Given the description of an element on the screen output the (x, y) to click on. 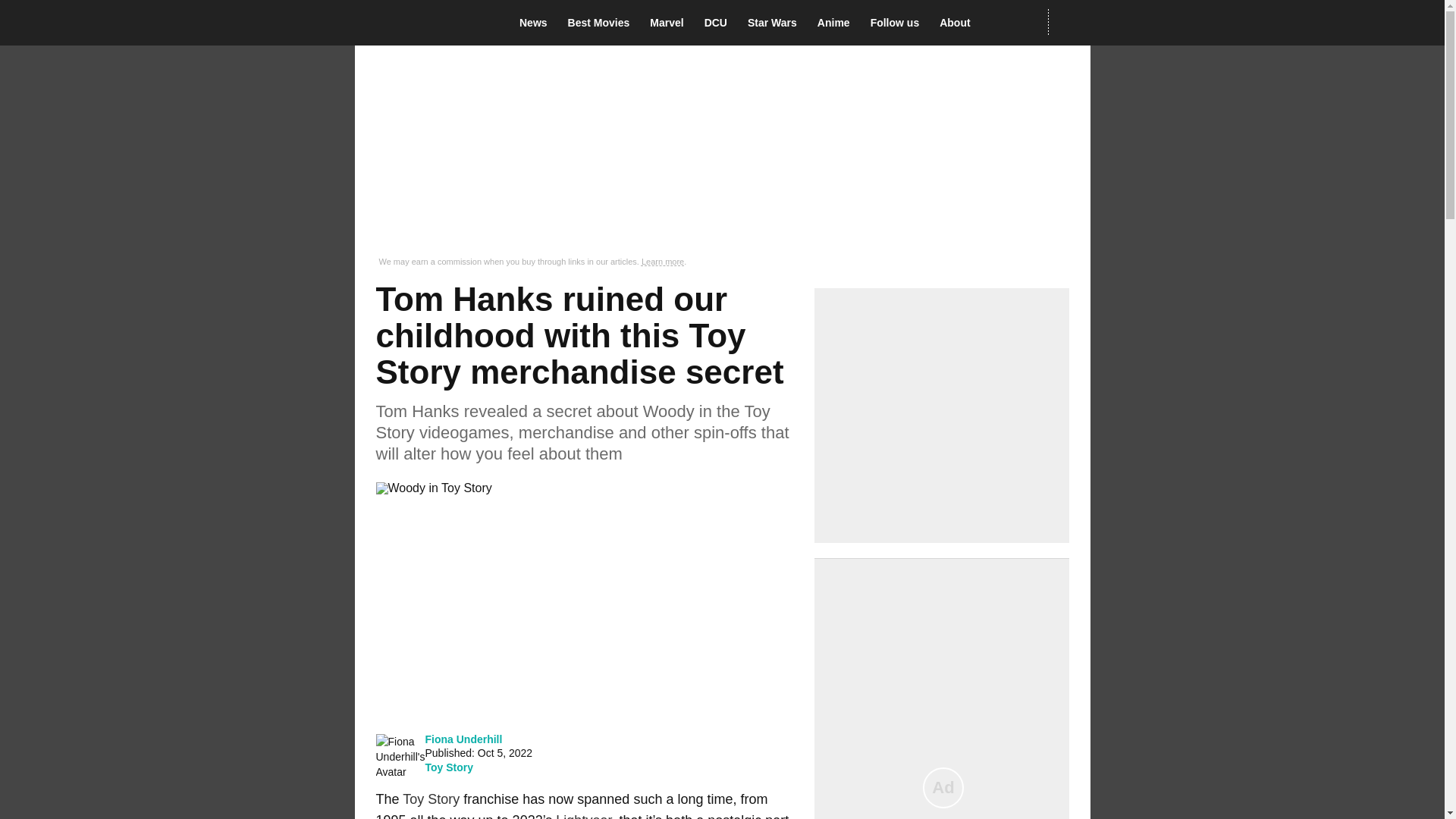
Toy Story (449, 767)
Best Movies (603, 22)
Learn more (663, 261)
Follow us (899, 22)
Star Wars (777, 22)
Star Wars News (777, 22)
Network N Media (1068, 22)
Toy Story (431, 798)
Lightyear (583, 816)
Marvel Cinematic Universe News (671, 22)
